Given the description of an element on the screen output the (x, y) to click on. 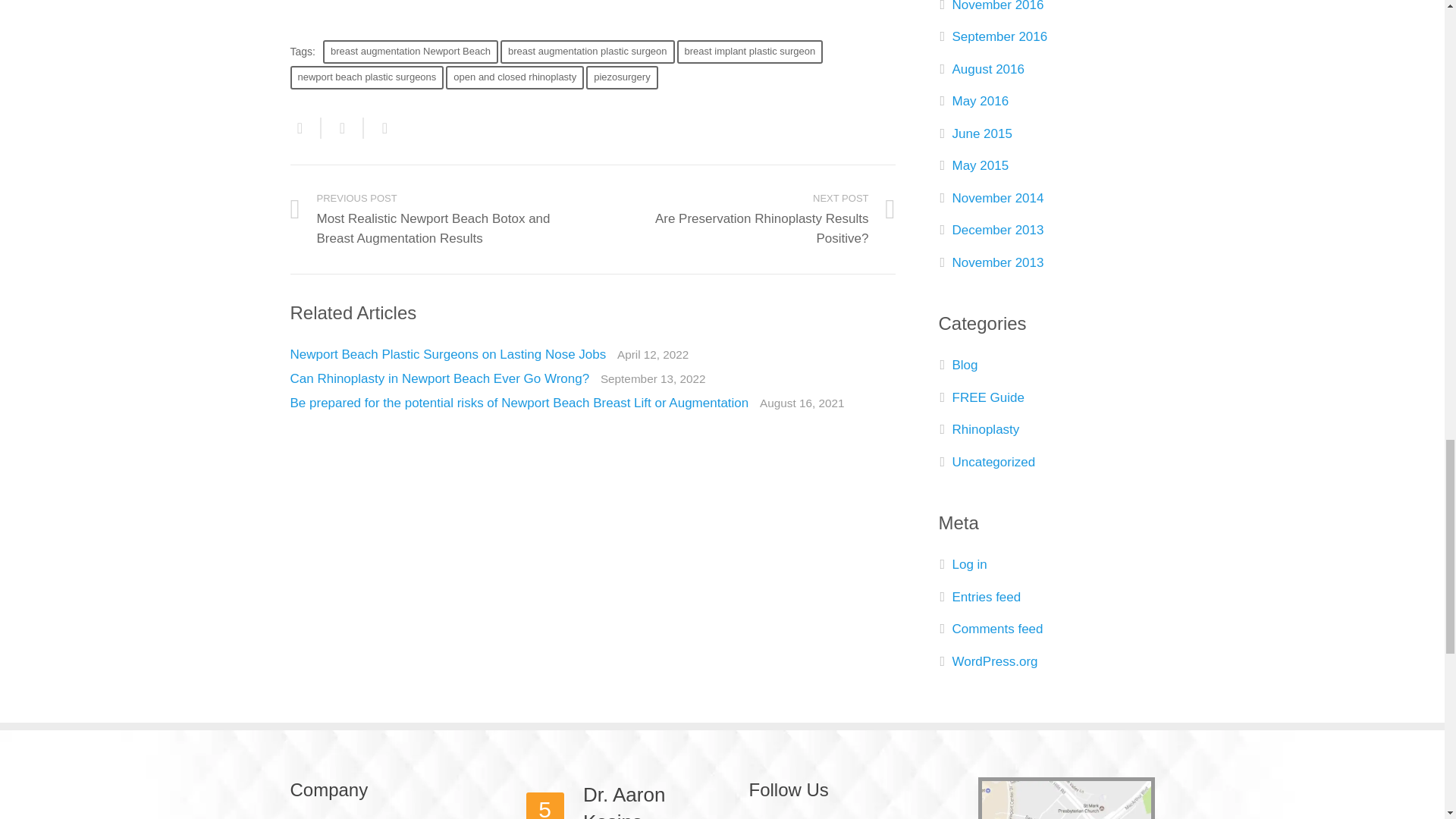
Share this (379, 127)
Tweet this (342, 127)
Share this (304, 127)
